Given the description of an element on the screen output the (x, y) to click on. 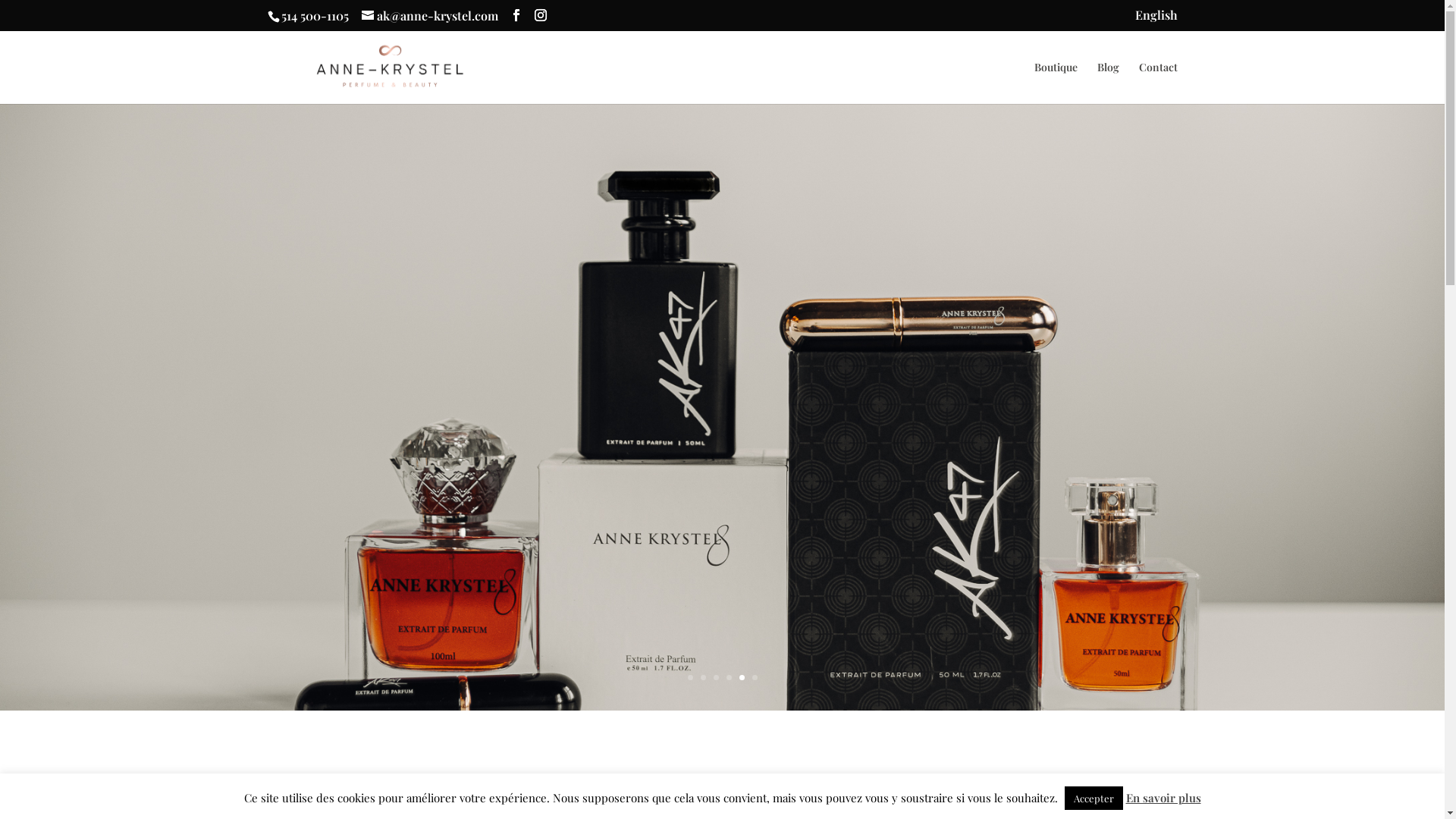
En savoir plus Element type: text (1162, 797)
Accepter Element type: text (1093, 797)
Contact Element type: text (1158, 82)
3 Element type: text (715, 677)
2 Element type: text (703, 677)
Boutique Element type: text (1055, 82)
5 Element type: text (740, 677)
ak@anne-krystel.com Element type: text (428, 15)
1 Element type: text (689, 677)
English Element type: text (1155, 19)
4 Element type: text (728, 677)
6 Element type: text (754, 677)
Blog Element type: text (1107, 82)
